Given the description of an element on the screen output the (x, y) to click on. 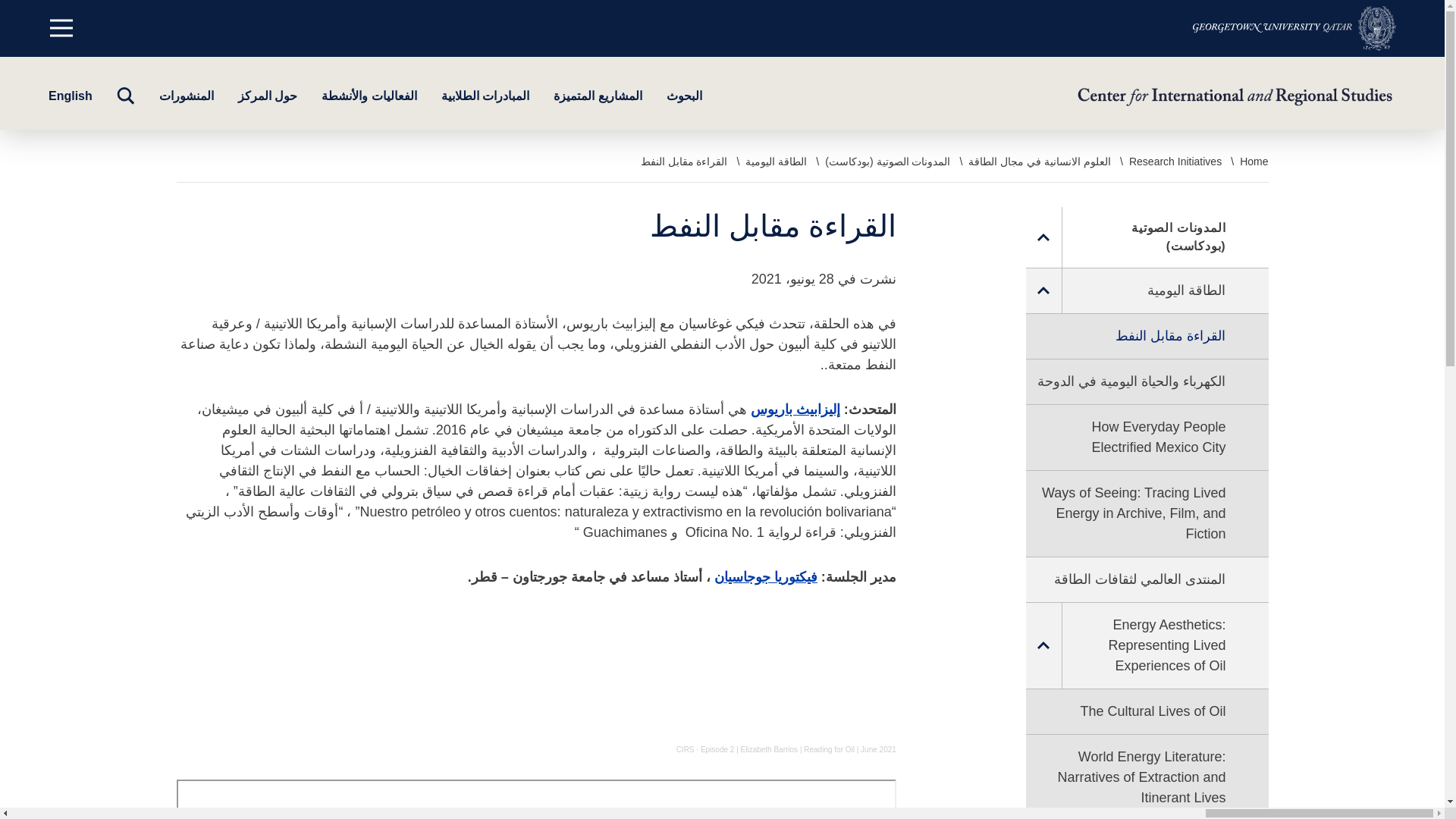
CIRS (685, 749)
Menu top (61, 27)
